Given the description of an element on the screen output the (x, y) to click on. 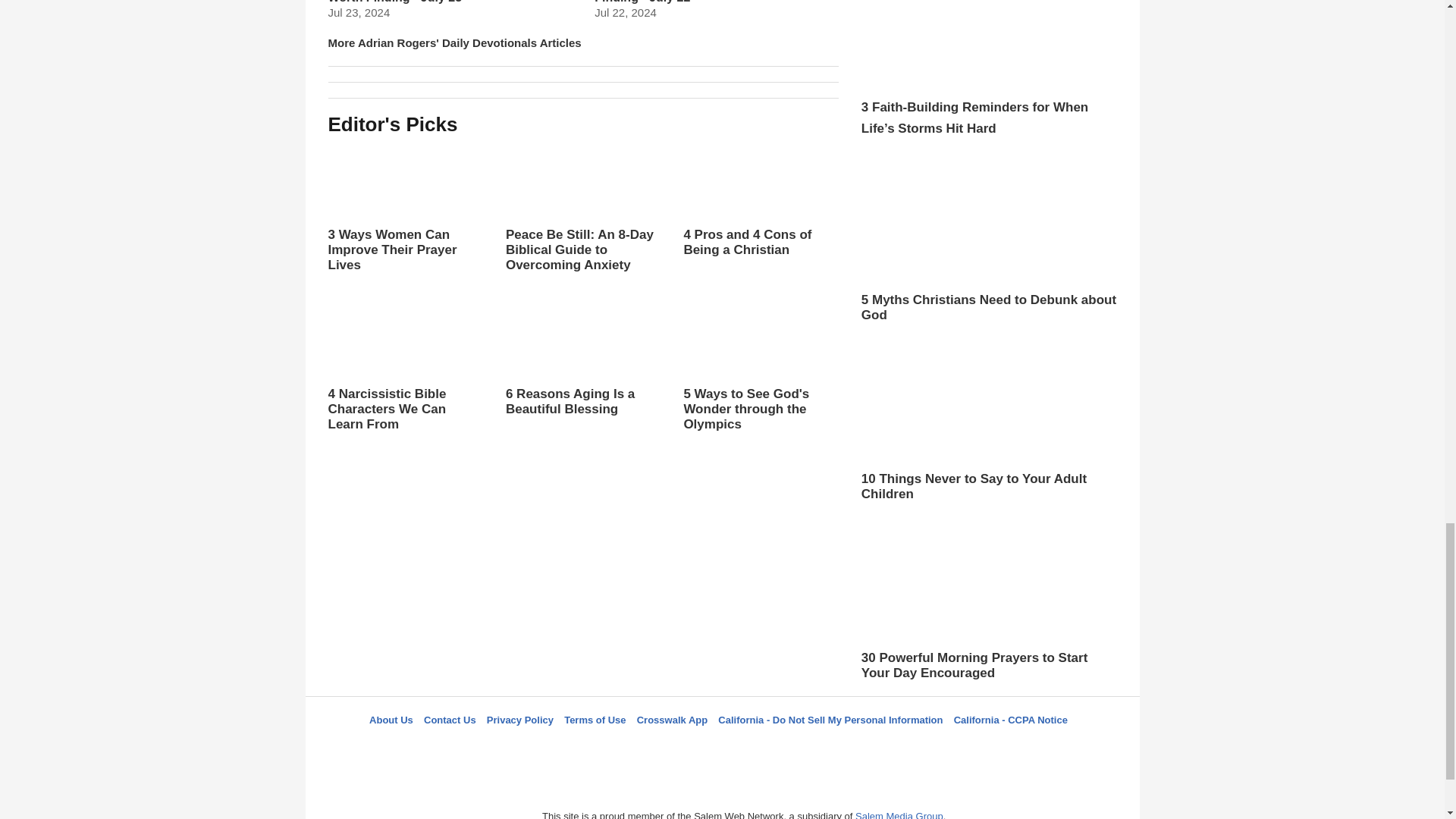
YouTube (795, 747)
Twitter (683, 747)
5 Ways to See God's Wonder through the Olympics (760, 367)
6 Reasons Aging Is a Beautiful Blessing (583, 373)
3 Ways Women Can Improve Their Prayer Lives (404, 207)
LifeAudio (719, 747)
4 Pros and 4 Cons of Being a Christian (760, 199)
4 Narcissistic Bible Characters We Can Learn From (404, 367)
Pinterest (757, 747)
Facebook (645, 747)
